Given the description of an element on the screen output the (x, y) to click on. 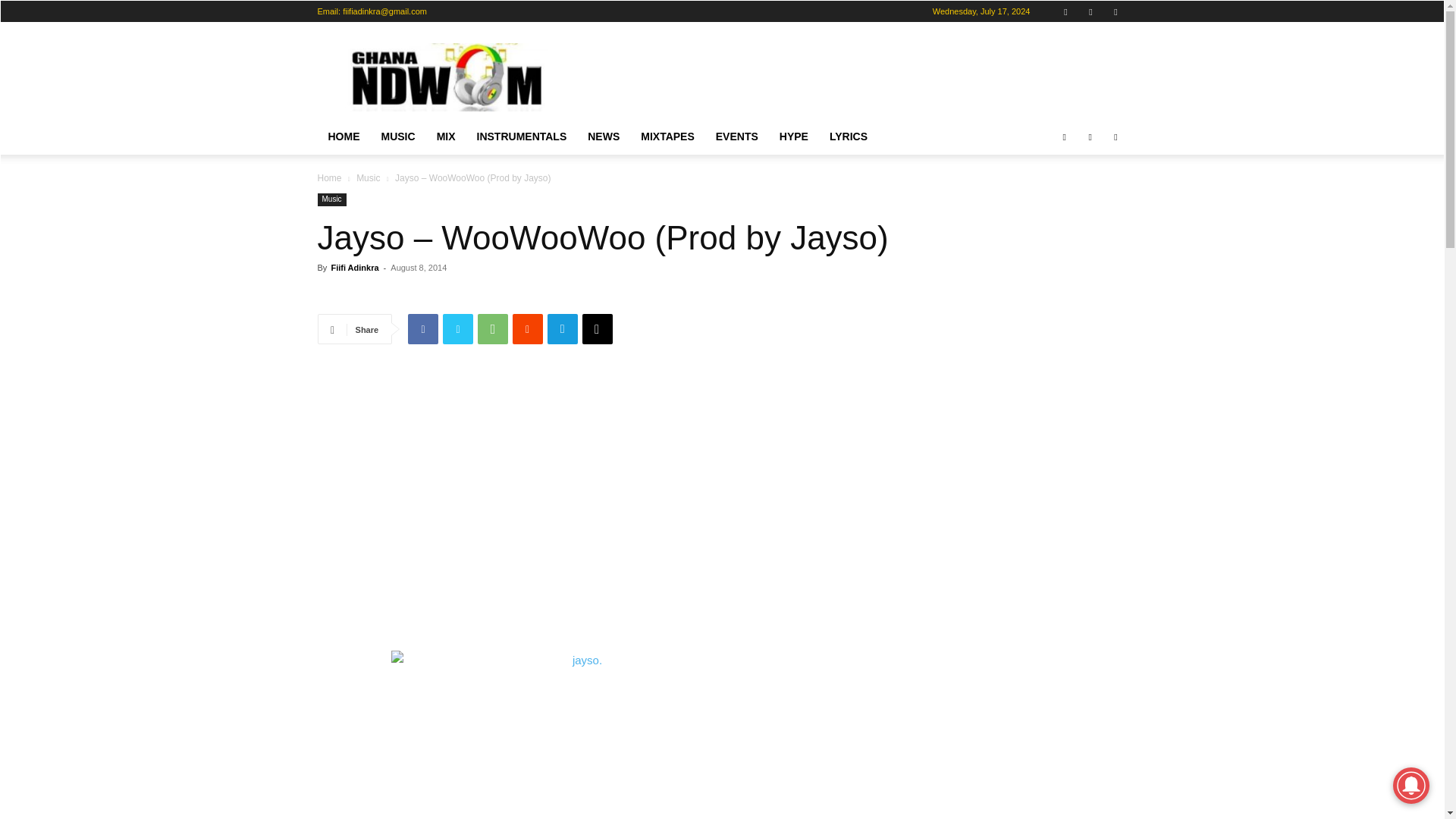
Facebook (1065, 11)
MIX (445, 135)
Advertisement (850, 77)
NEWS (603, 135)
topFacebookLike (430, 295)
Twitter (457, 328)
Music (368, 177)
Twitter (1114, 11)
ReddIt (527, 328)
LYRICS (847, 135)
MIXTAPES (667, 135)
INSTRUMENTALS (521, 135)
HOME (343, 135)
View all posts in Music (368, 177)
WhatsApp (492, 328)
